Given the description of an element on the screen output the (x, y) to click on. 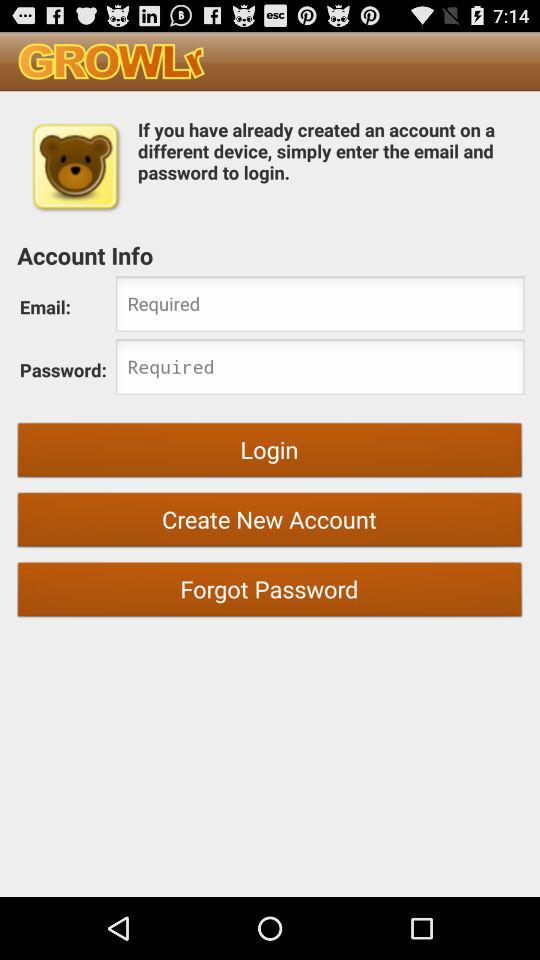
turn off the forgot password (269, 591)
